Given the description of an element on the screen output the (x, y) to click on. 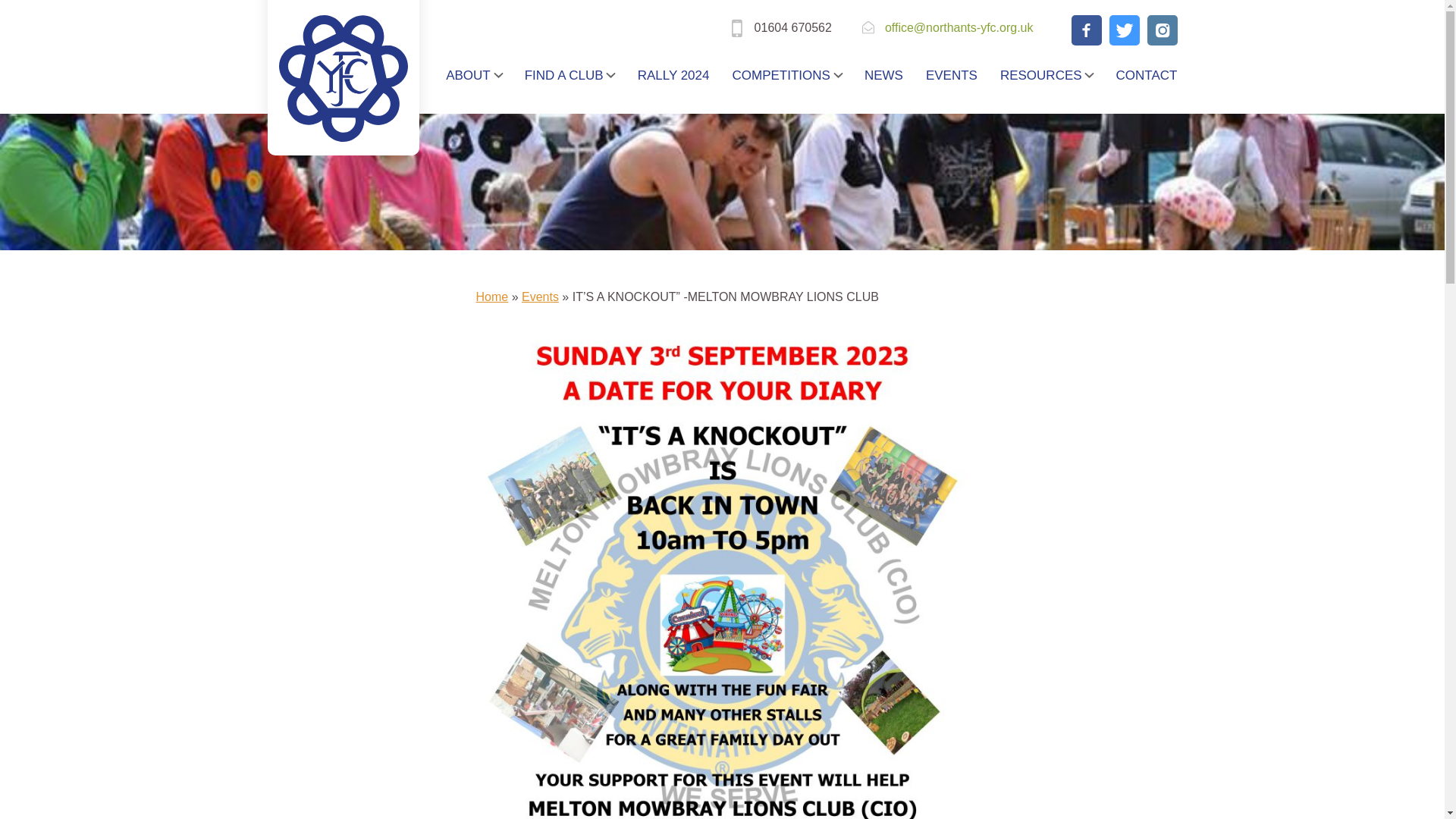
NEWS (883, 75)
RALLY 2024 (673, 75)
Northants Young Farmers Clubs (343, 78)
COMPETITIONS (785, 75)
HOMEPAGE (407, 75)
CONTACT (1141, 75)
FIND A CLUB (569, 75)
EVENTS (951, 75)
RESOURCES (1046, 75)
Home (492, 296)
ABOUT (473, 75)
Events (540, 296)
